Given the description of an element on the screen output the (x, y) to click on. 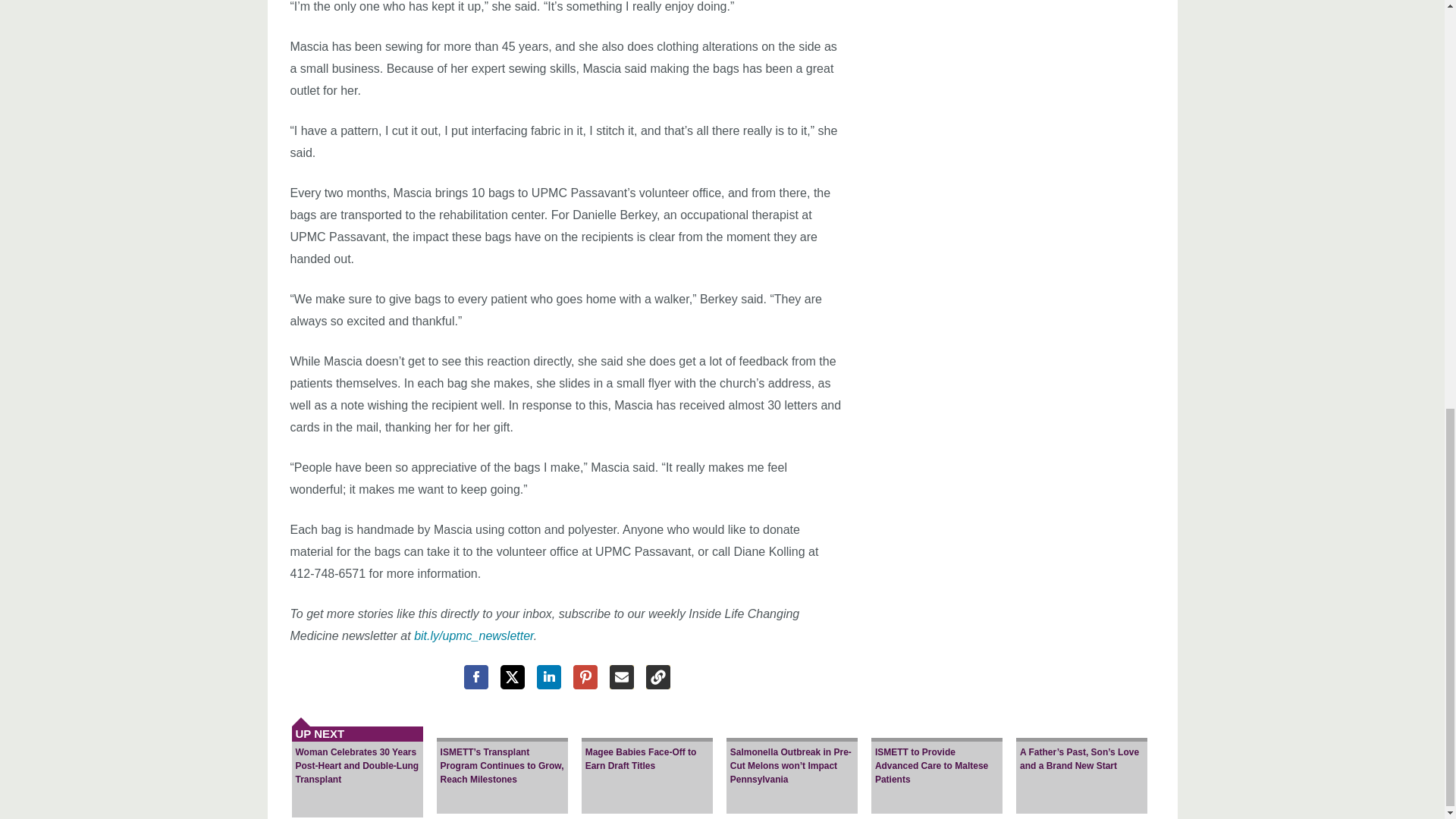
Magee Babies Face-Off to Earn Draft Titles (646, 760)
Forward via email (621, 677)
ISMETT to Provide Advanced Care to Maltese Patients (936, 760)
Copy to clipboard (657, 677)
Share on Pinterest (584, 677)
Share on Facebook (475, 677)
Share on LinkedIn (548, 677)
